Given the description of an element on the screen output the (x, y) to click on. 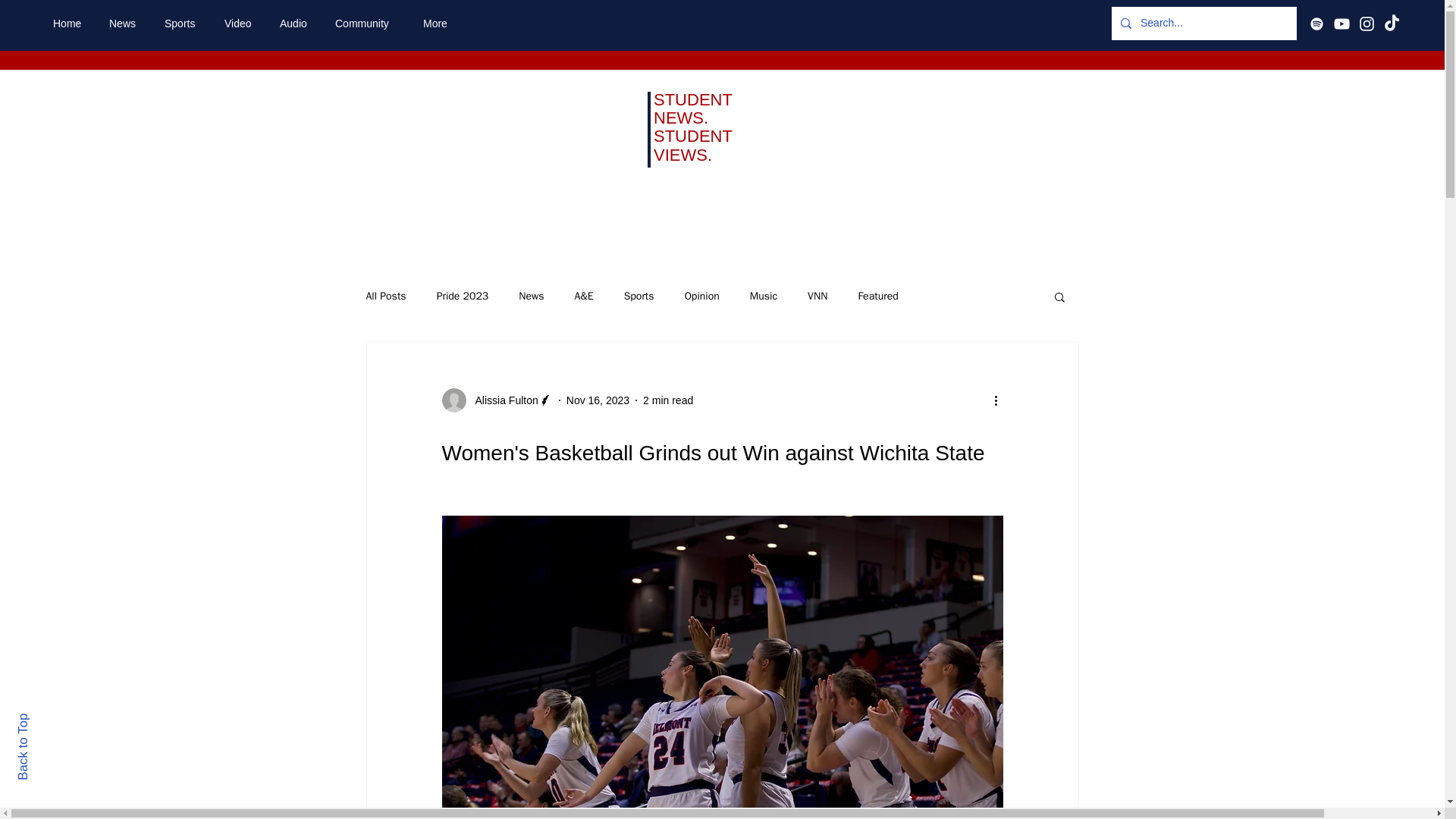
Featured (877, 296)
Audio (295, 23)
News (530, 296)
Video (239, 23)
News (124, 23)
Alissia Fulton (501, 400)
Community (367, 23)
All Posts (385, 296)
Opinion (701, 296)
Pride 2023 (462, 296)
Music (763, 296)
VNN (817, 296)
Nov 16, 2023 (597, 399)
Alissia Fulton (496, 400)
Sports (638, 296)
